Given the description of an element on the screen output the (x, y) to click on. 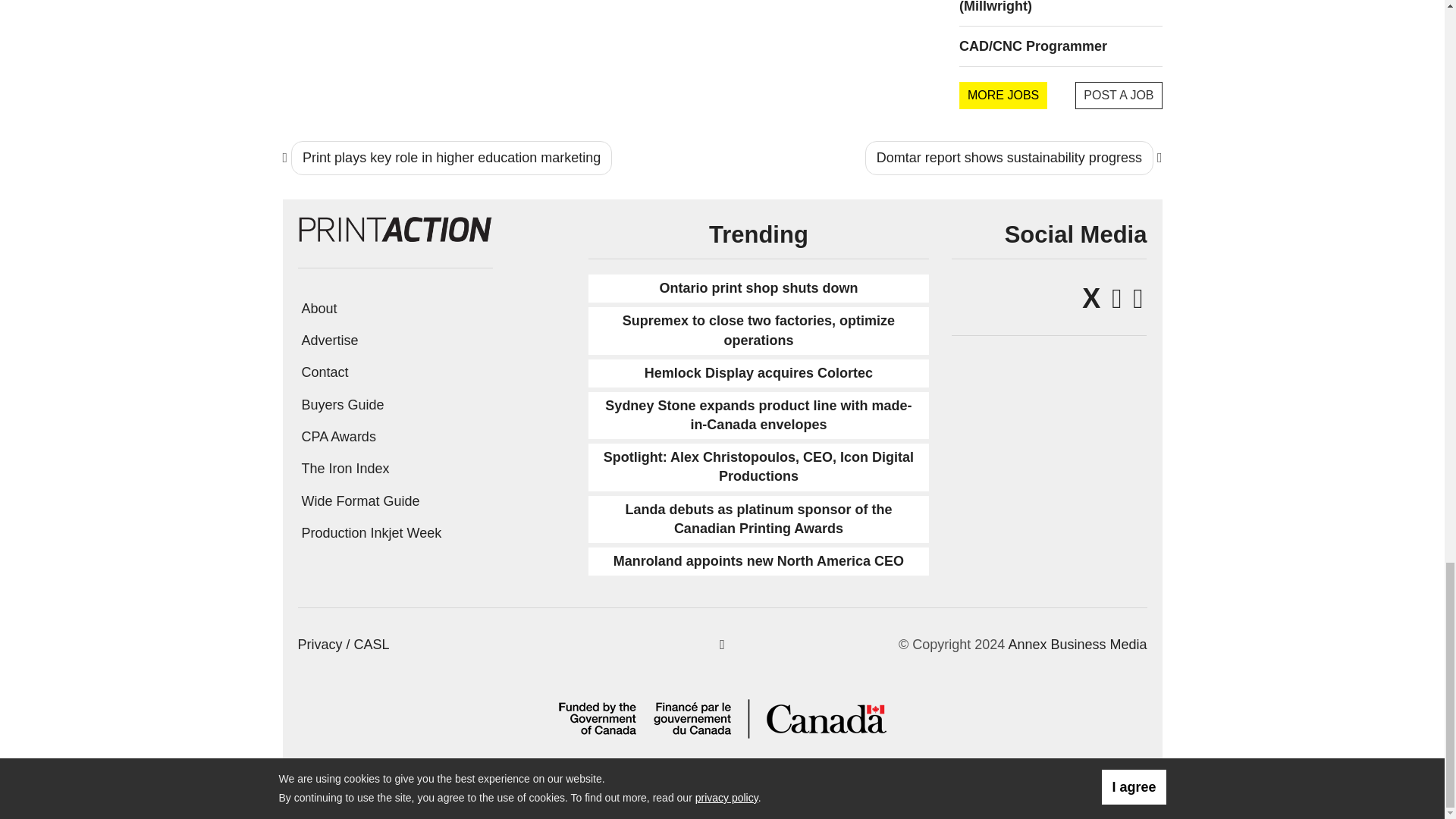
PrintAction (395, 227)
Annex Business Media (1077, 644)
